Given the description of an element on the screen output the (x, y) to click on. 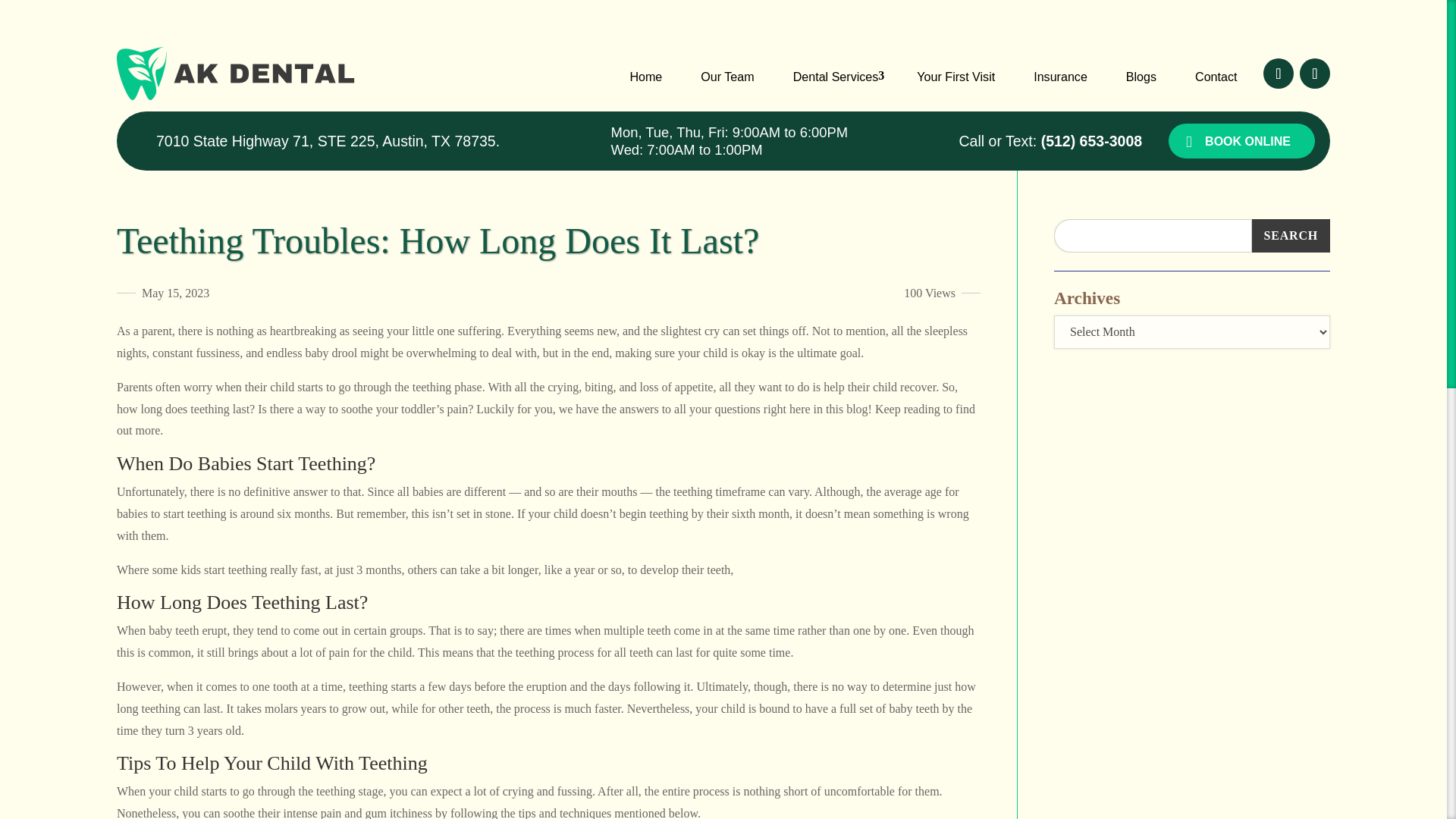
Follow on Instagram (1315, 73)
Our Team (727, 76)
Dental Services (836, 76)
Blogs (1140, 76)
Contact (1215, 76)
Search (1291, 235)
Your First Visit (955, 76)
BOOK ONLINE (1241, 140)
Home (645, 76)
Search (1291, 235)
Search (1291, 235)
Insurance (1060, 76)
Follow on Facebook (1278, 73)
